Given the description of an element on the screen output the (x, y) to click on. 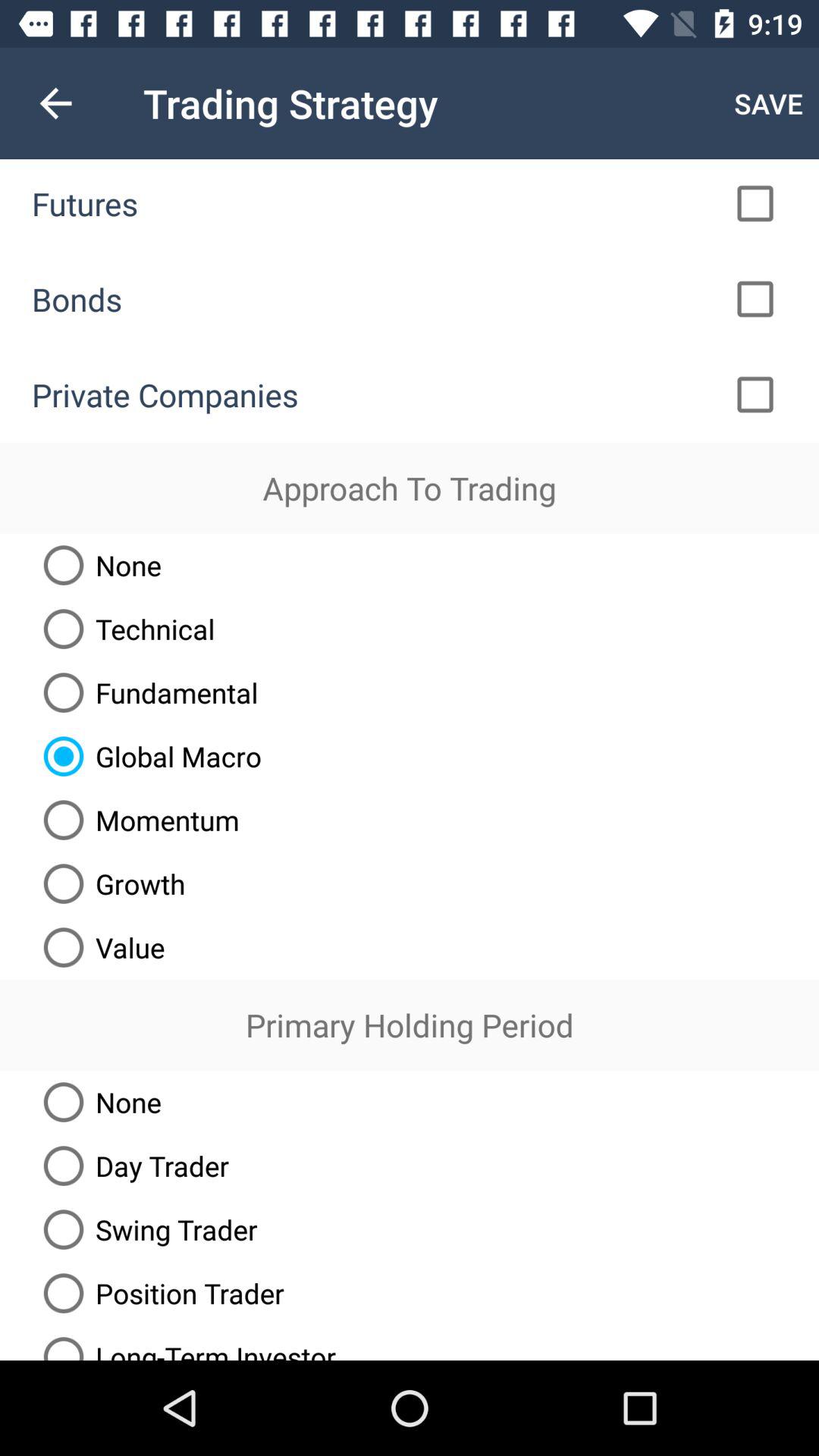
tap swing trader (144, 1229)
